Given the description of an element on the screen output the (x, y) to click on. 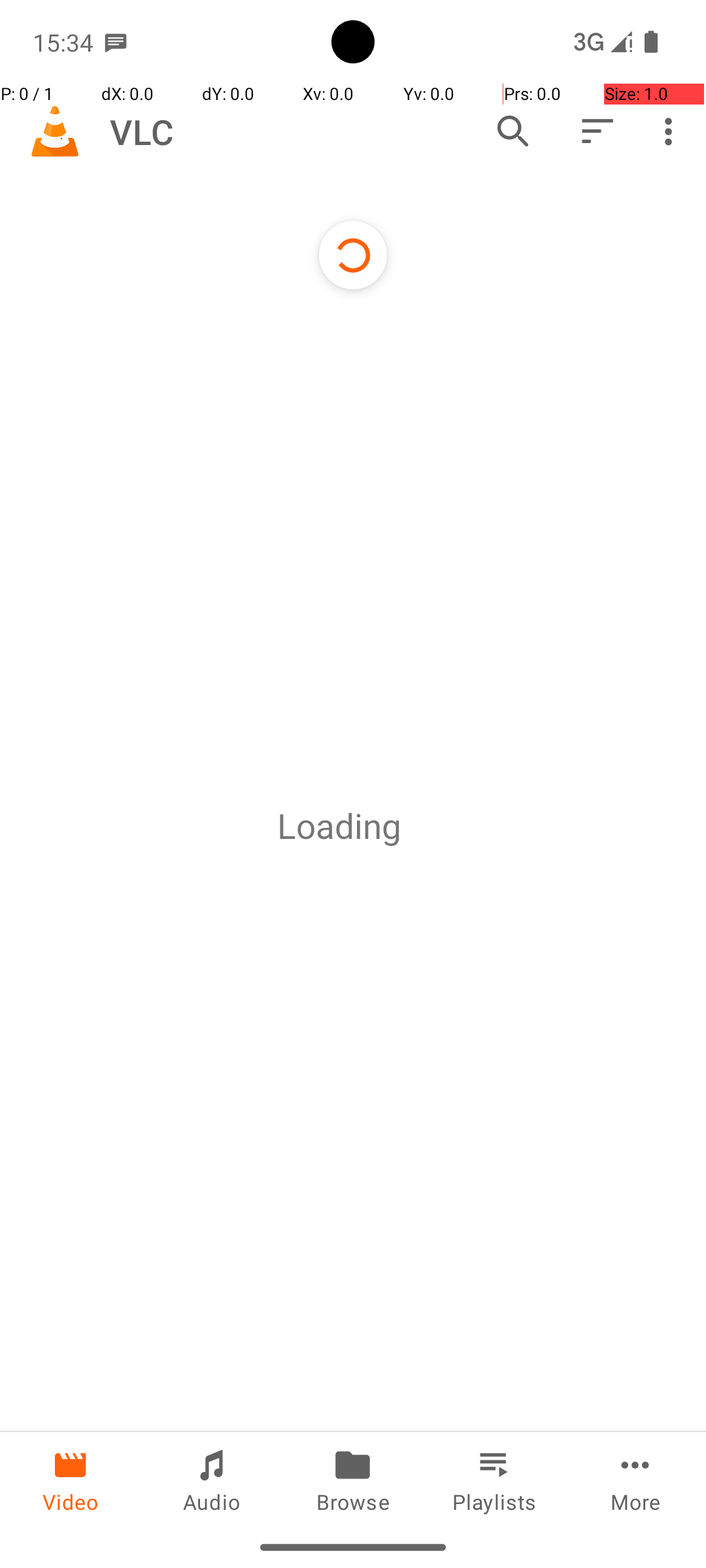
Sort by… Element type: android.widget.TextView (595, 131)
Loading Element type: android.widget.TextView (339, 825)
